Given the description of an element on the screen output the (x, y) to click on. 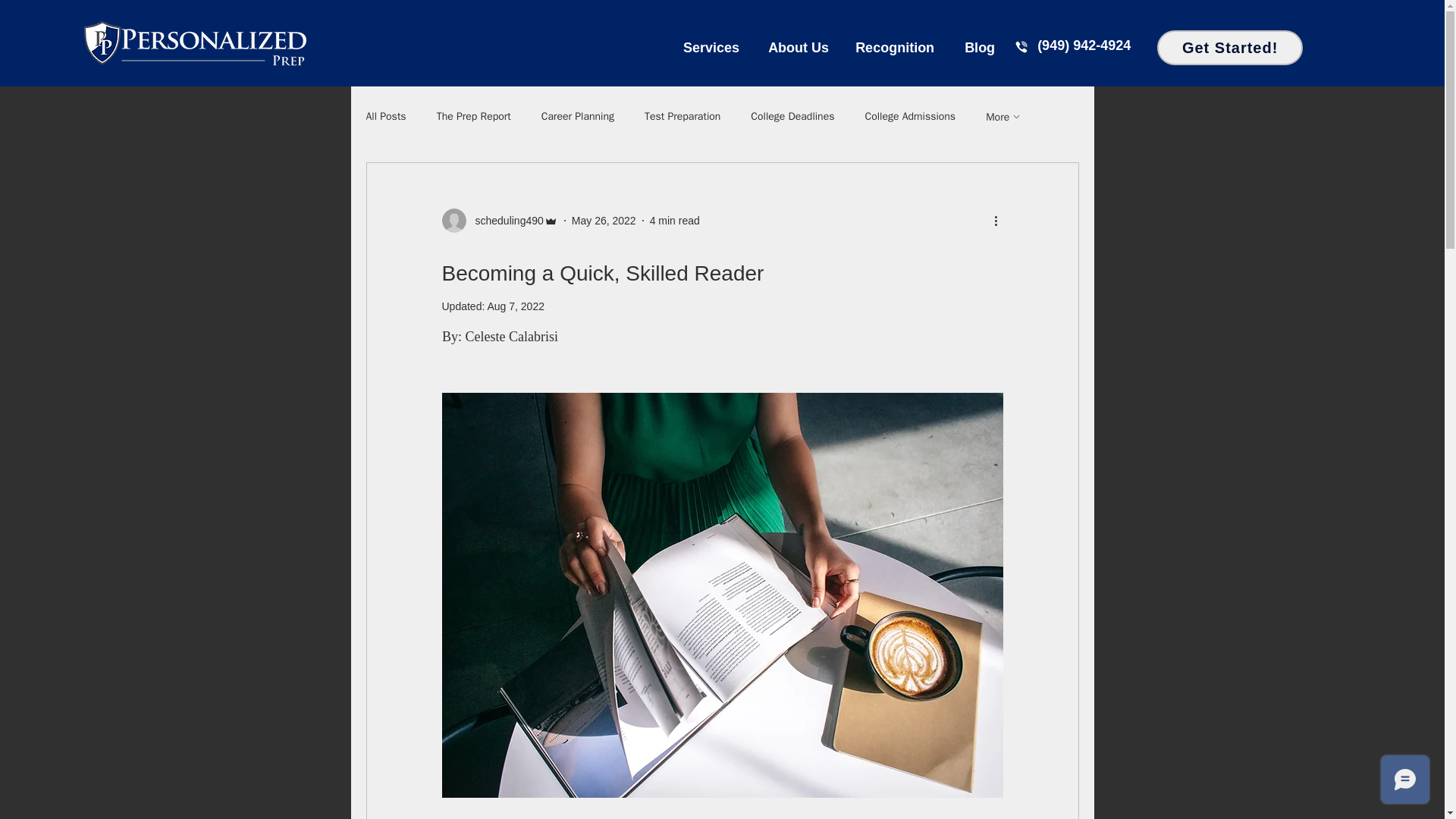
Get Started! (1230, 47)
scheduling490 (499, 220)
4 min read (674, 220)
Pesonalized prep (212, 46)
Aug 7, 2022 (515, 306)
College Deadlines (792, 116)
Recognition (892, 47)
The Prep Report (473, 116)
scheduling490 (504, 220)
Test Preparation (682, 116)
